Given the description of an element on the screen output the (x, y) to click on. 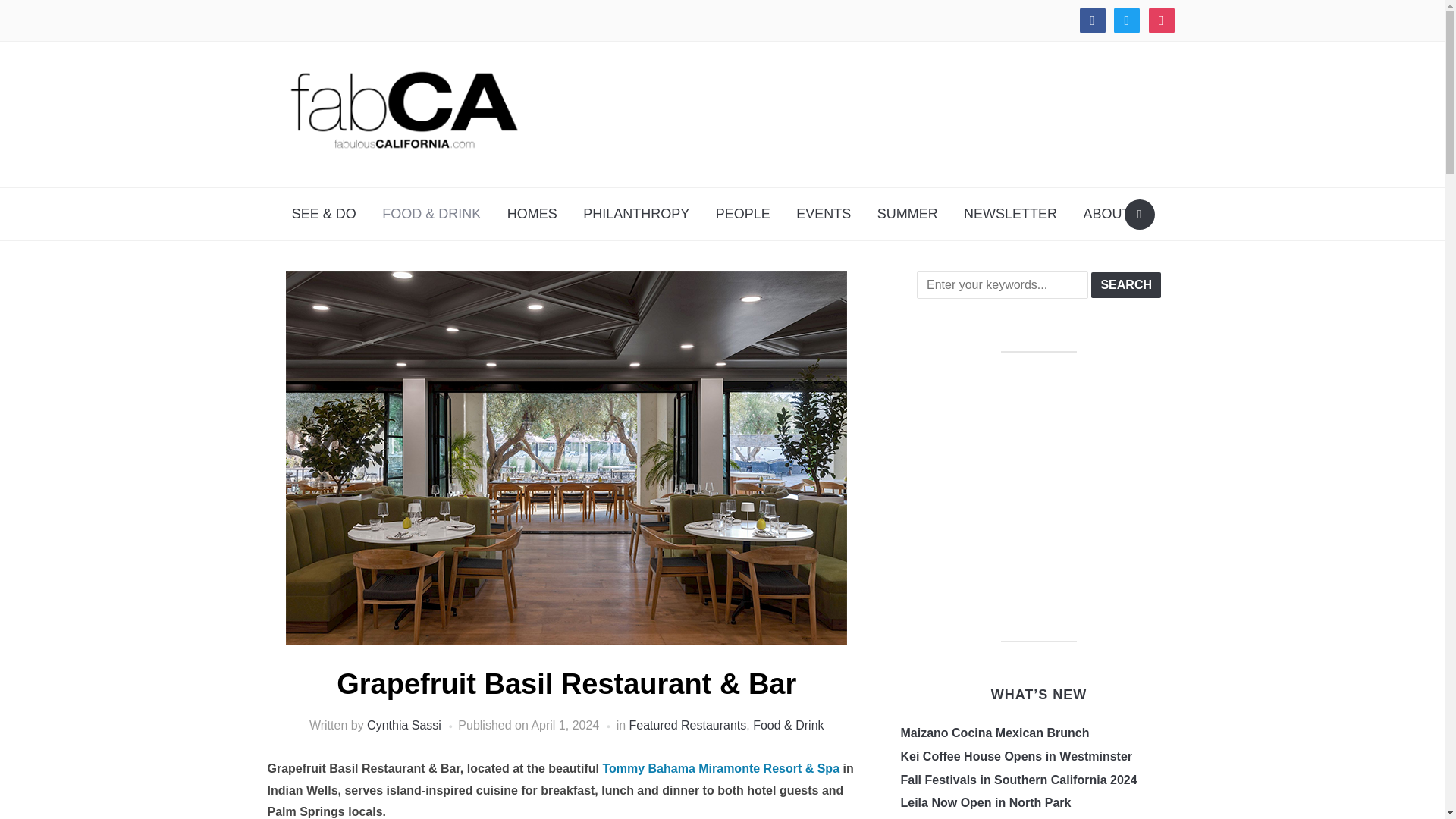
Twitter (1126, 19)
twitter (1126, 19)
Facebook (1092, 19)
instagram (1160, 19)
Posts by Cynthia Sassi (403, 725)
Search (1125, 284)
facebook (1092, 19)
Search (1125, 284)
Instagram (1160, 19)
Search (1139, 214)
